Given the description of an element on the screen output the (x, y) to click on. 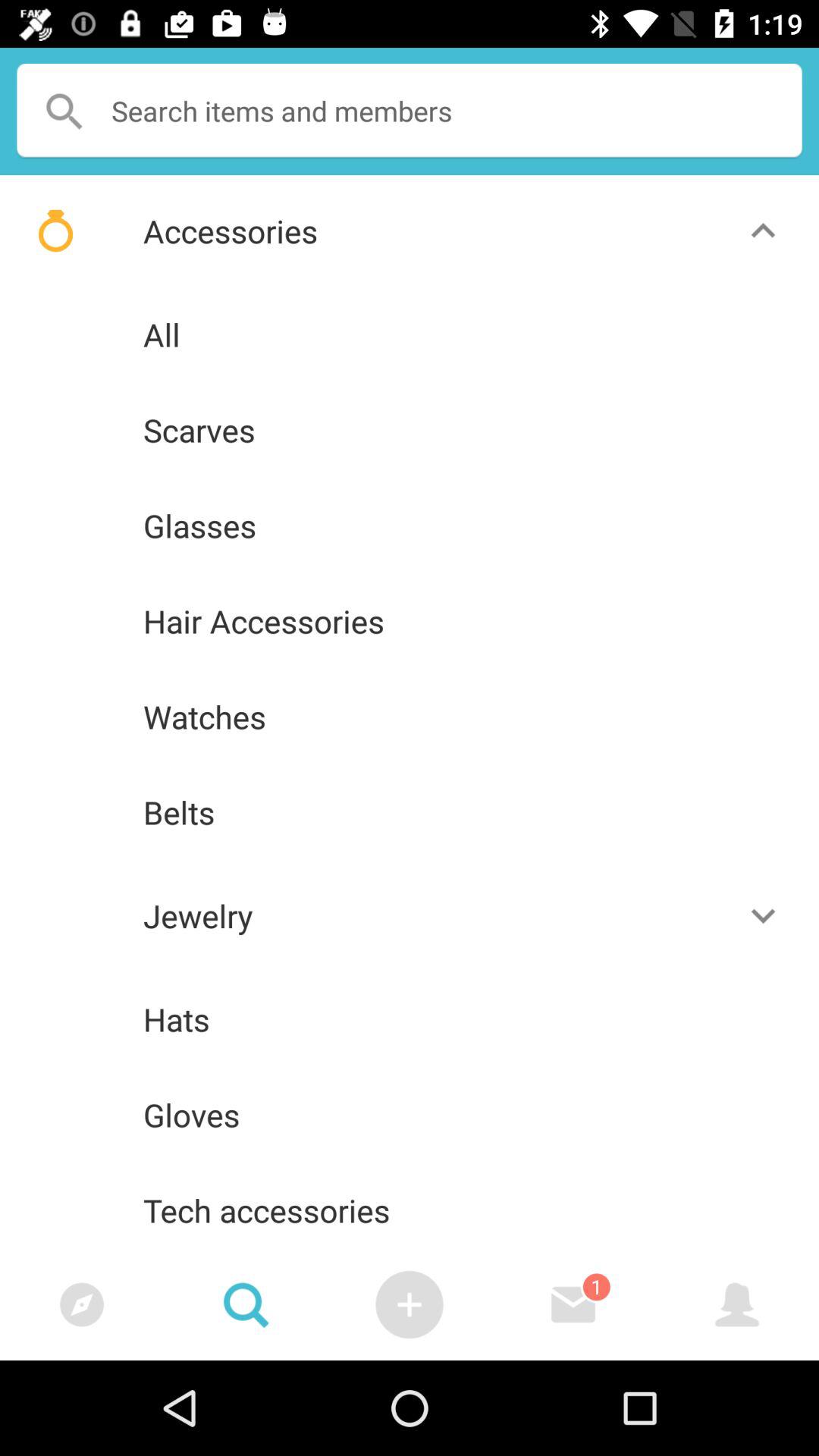
press the search items and item (409, 111)
